Given the description of an element on the screen output the (x, y) to click on. 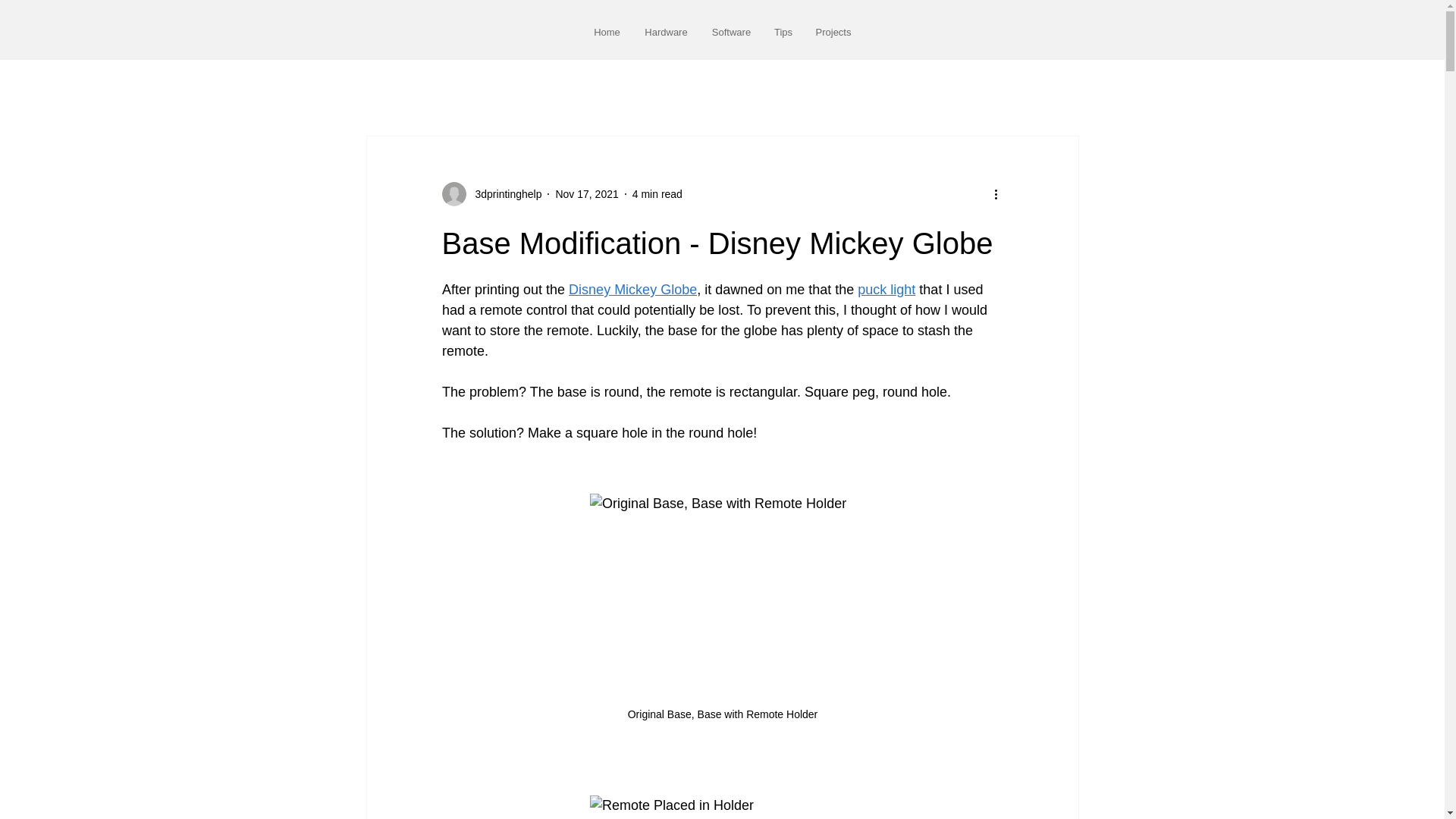
4 min read (656, 193)
puck light (886, 289)
Disney Mickey Globe (633, 289)
3dprintinghelp (503, 194)
Projects (833, 31)
Nov 17, 2021 (585, 193)
Home (605, 31)
Software (731, 31)
Hardware (665, 31)
Tips (782, 31)
